Given the description of an element on the screen output the (x, y) to click on. 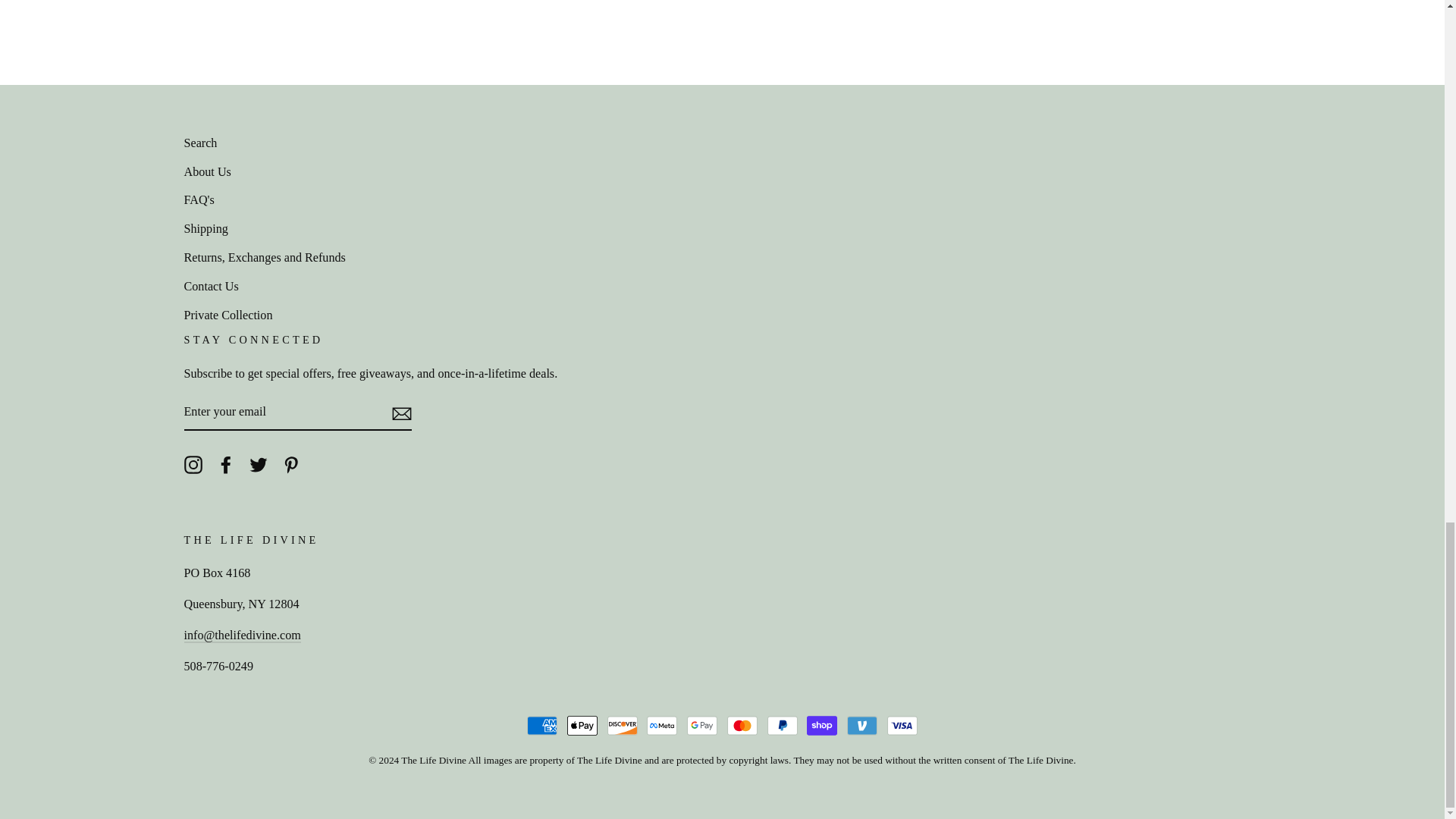
The Life Divine on Facebook (225, 463)
Apple Pay (581, 725)
American Express (542, 725)
The Life Divine on Pinterest (290, 463)
The Life Divine on Twitter (257, 463)
Contact Us (241, 635)
The Life Divine on Instagram (192, 463)
